Given the description of an element on the screen output the (x, y) to click on. 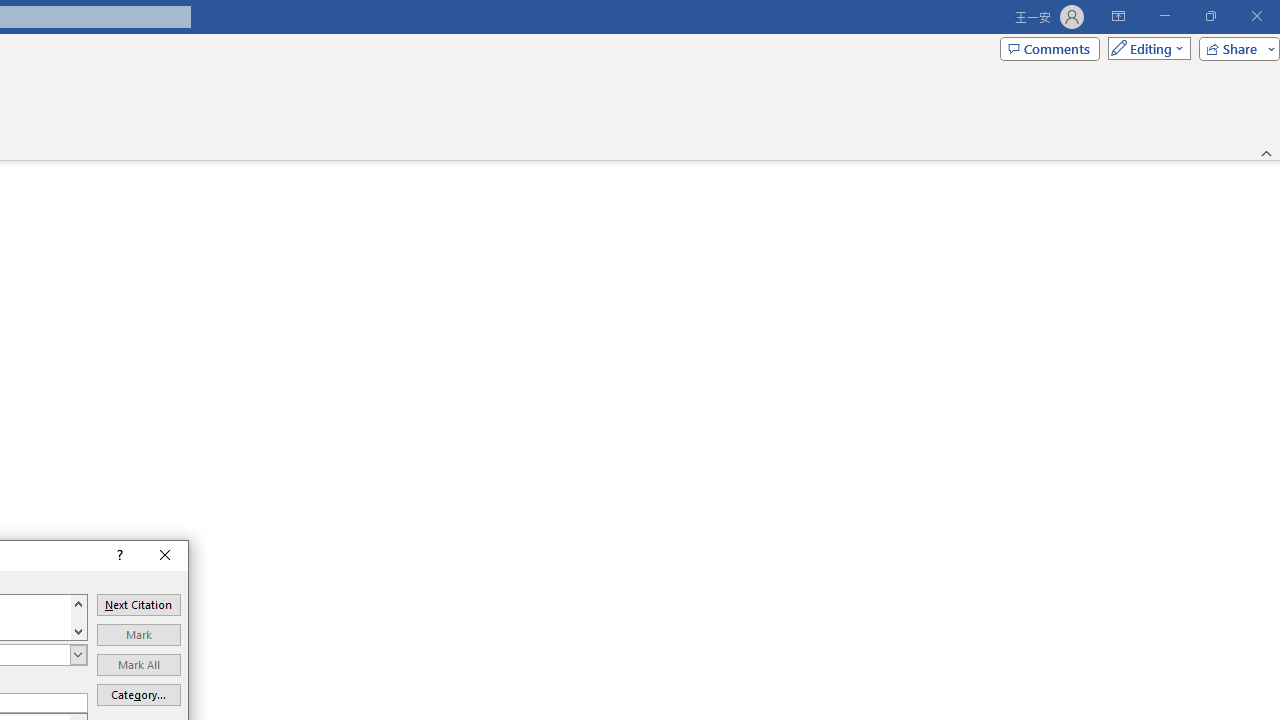
Category... (138, 695)
Line down (78, 631)
Mark All (138, 664)
Context help (118, 555)
Mark (138, 634)
Vertical (78, 617)
Line up (78, 603)
